Given the description of an element on the screen output the (x, y) to click on. 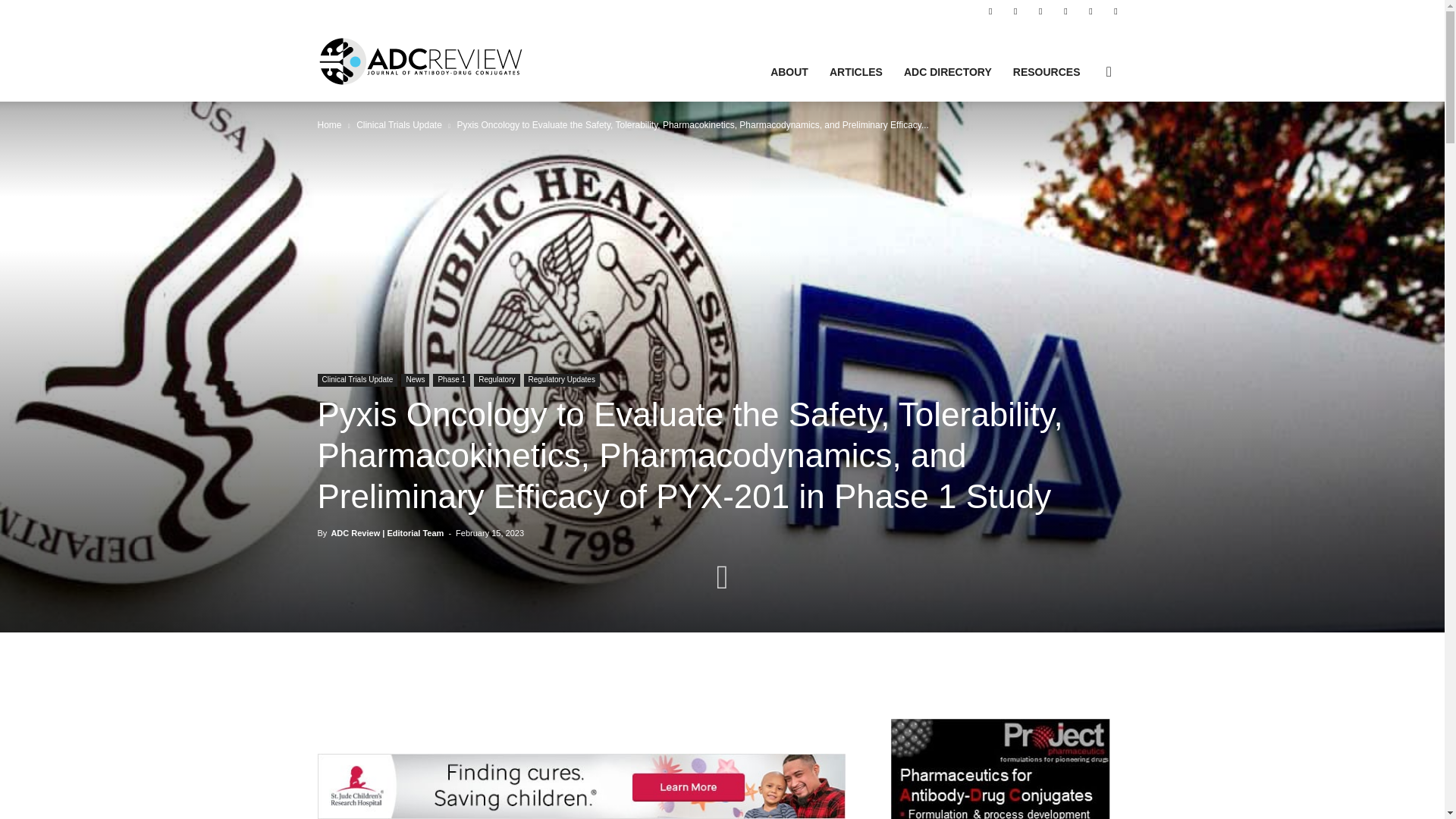
Linkedin (1015, 10)
Journal of Antibody-Drug Conjugates (419, 60)
Facebook (989, 10)
Vimeo (1090, 10)
Xing (1114, 10)
Soundcloud (1040, 10)
Twitter (1065, 10)
